Given the description of an element on the screen output the (x, y) to click on. 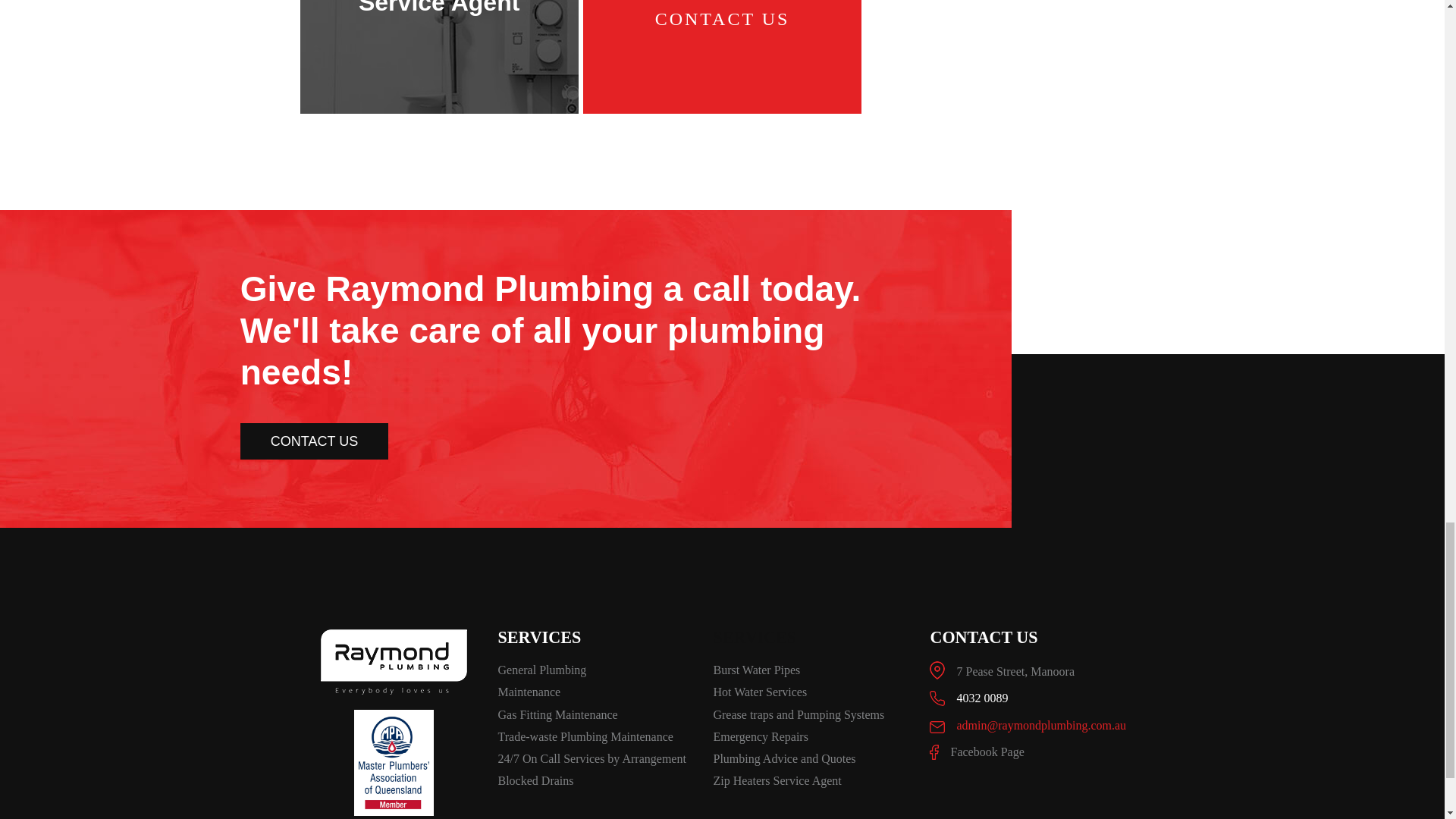
General Plumbing (597, 669)
Burst Water Pipes (813, 669)
CONTACT US (438, 7)
Gas Fitting Maintenance (722, 18)
Hot Water Services (597, 714)
Maintenance (813, 692)
CONTACT US (597, 692)
Blocked Drains (314, 441)
Trade-waste Plumbing Maintenance (597, 780)
